Given the description of an element on the screen output the (x, y) to click on. 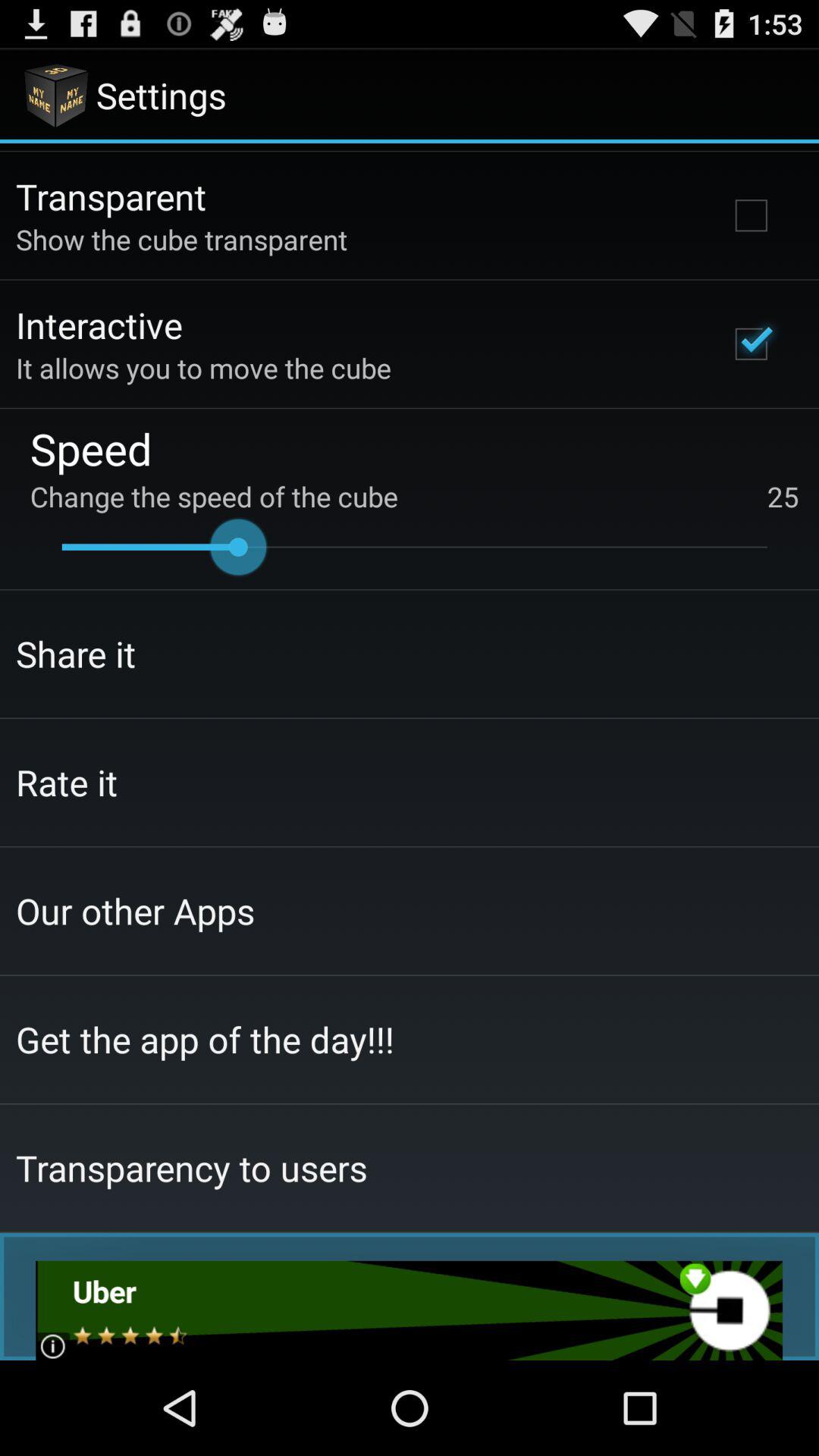
launch change the speed item (414, 496)
